Given the description of an element on the screen output the (x, y) to click on. 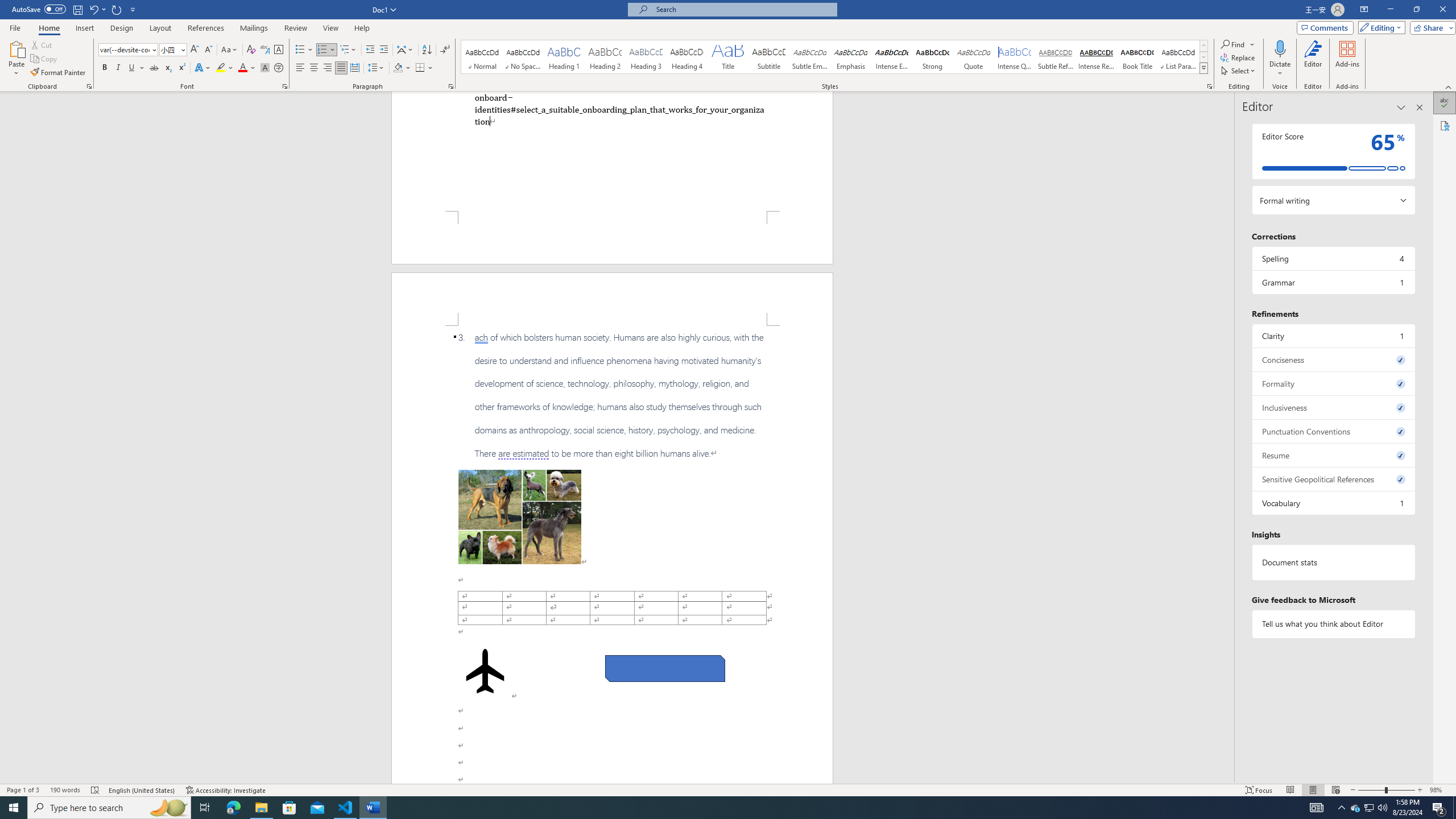
Page 1 content (611, 151)
